Given the description of an element on the screen output the (x, y) to click on. 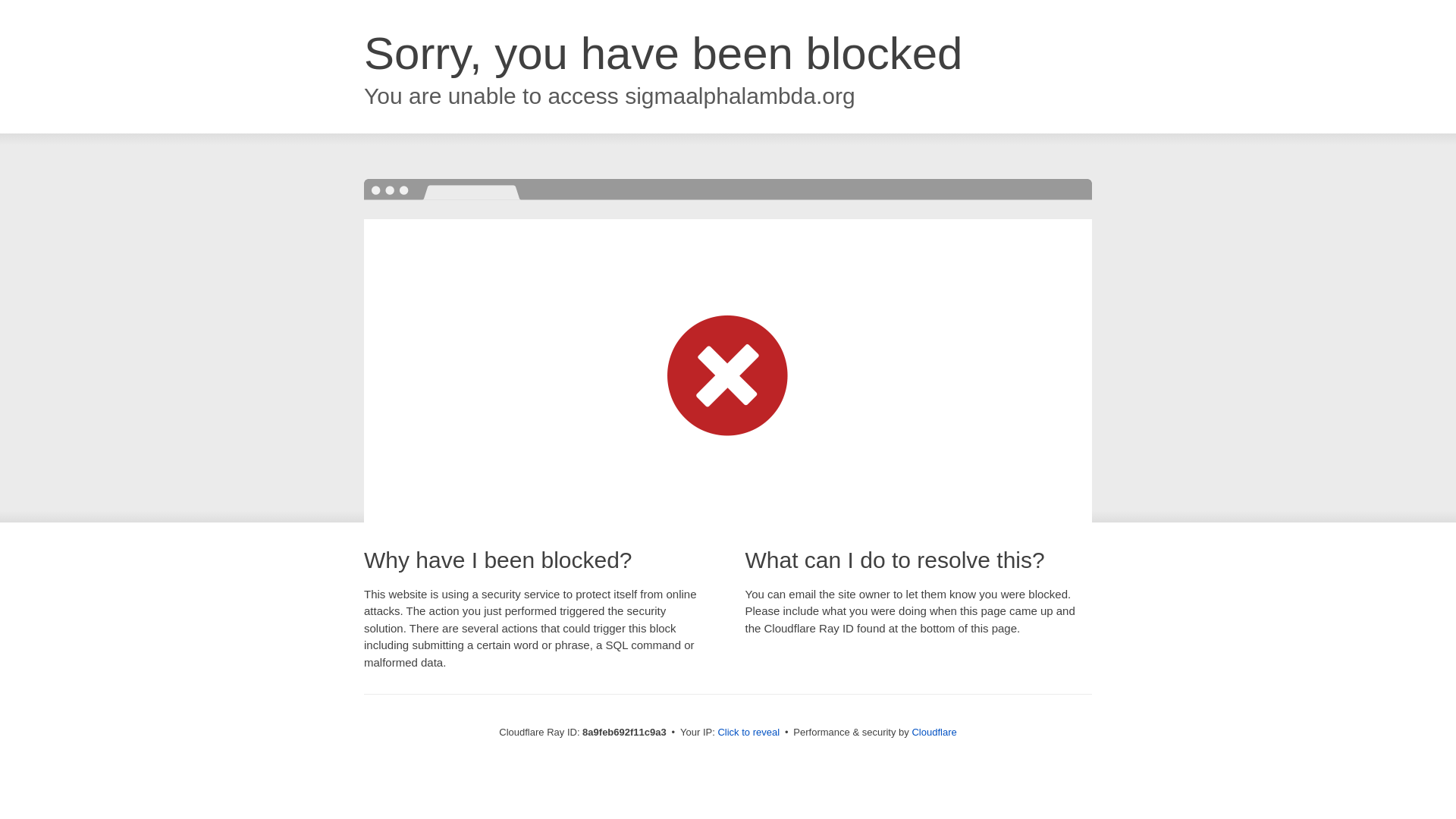
Click to reveal (747, 732)
Cloudflare (933, 731)
